Given the description of an element on the screen output the (x, y) to click on. 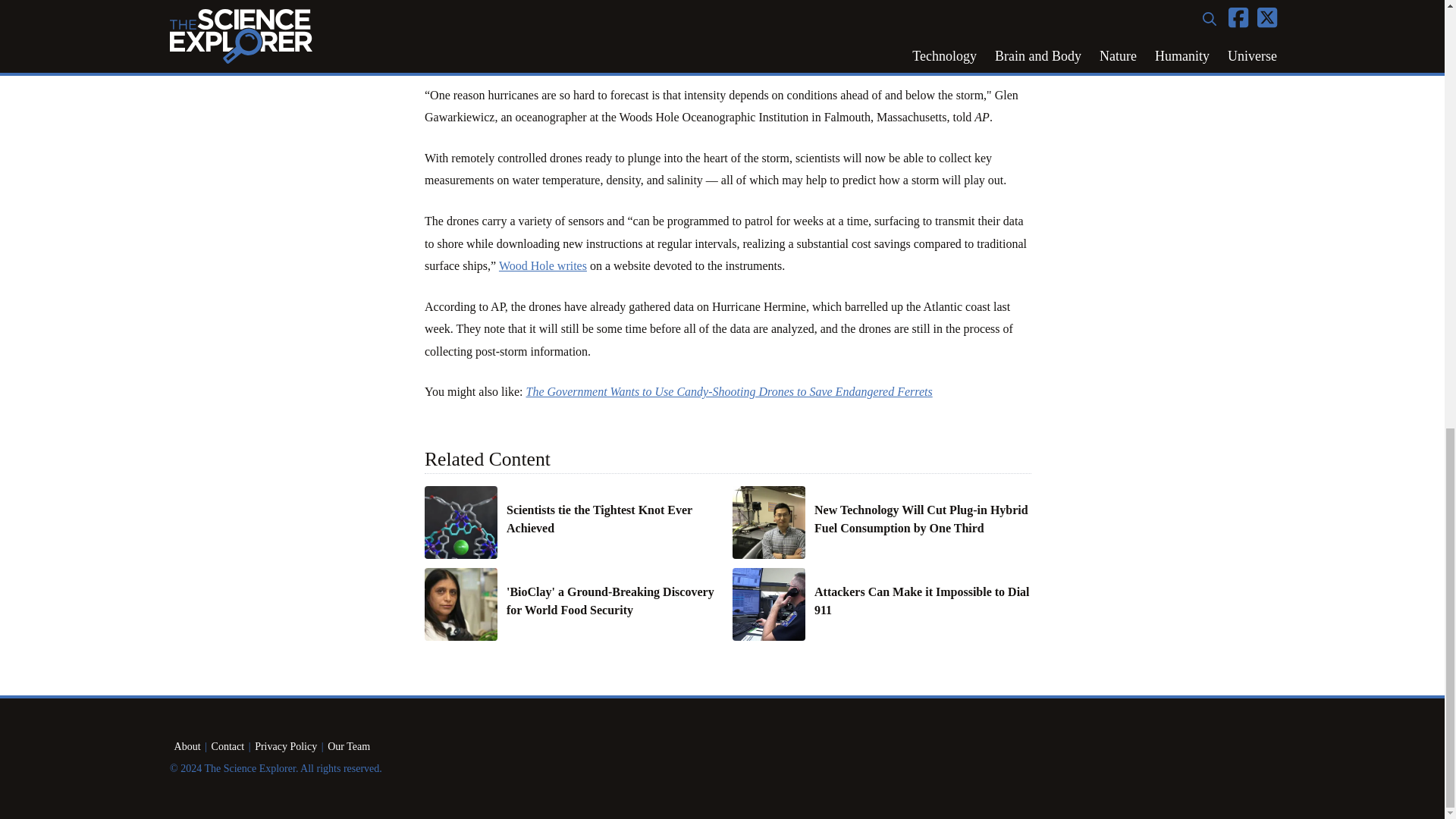
explains on its website (883, 31)
Wood Hole writes (542, 265)
WHOI Underwater Glider Operations (542, 265)
